Given the description of an element on the screen output the (x, y) to click on. 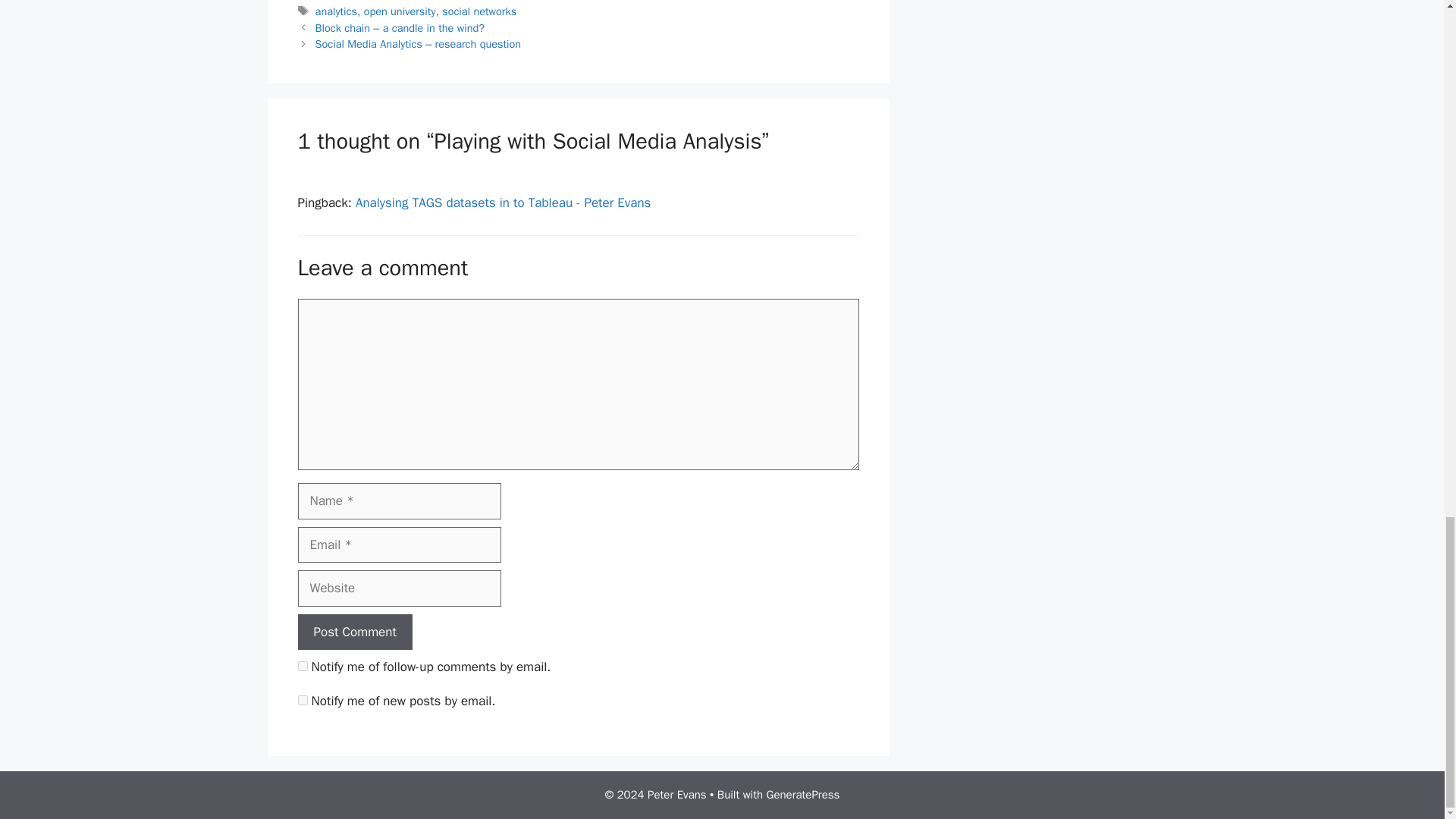
subscribe (302, 665)
Analysing TAGS datasets in to Tableau - Peter Evans (502, 202)
Previous (399, 28)
open university (399, 11)
research (335, 0)
subscribe (302, 700)
social networks (479, 11)
Post Comment (354, 632)
Post Comment (354, 632)
analytics (335, 11)
Next (418, 43)
